Given the description of an element on the screen output the (x, y) to click on. 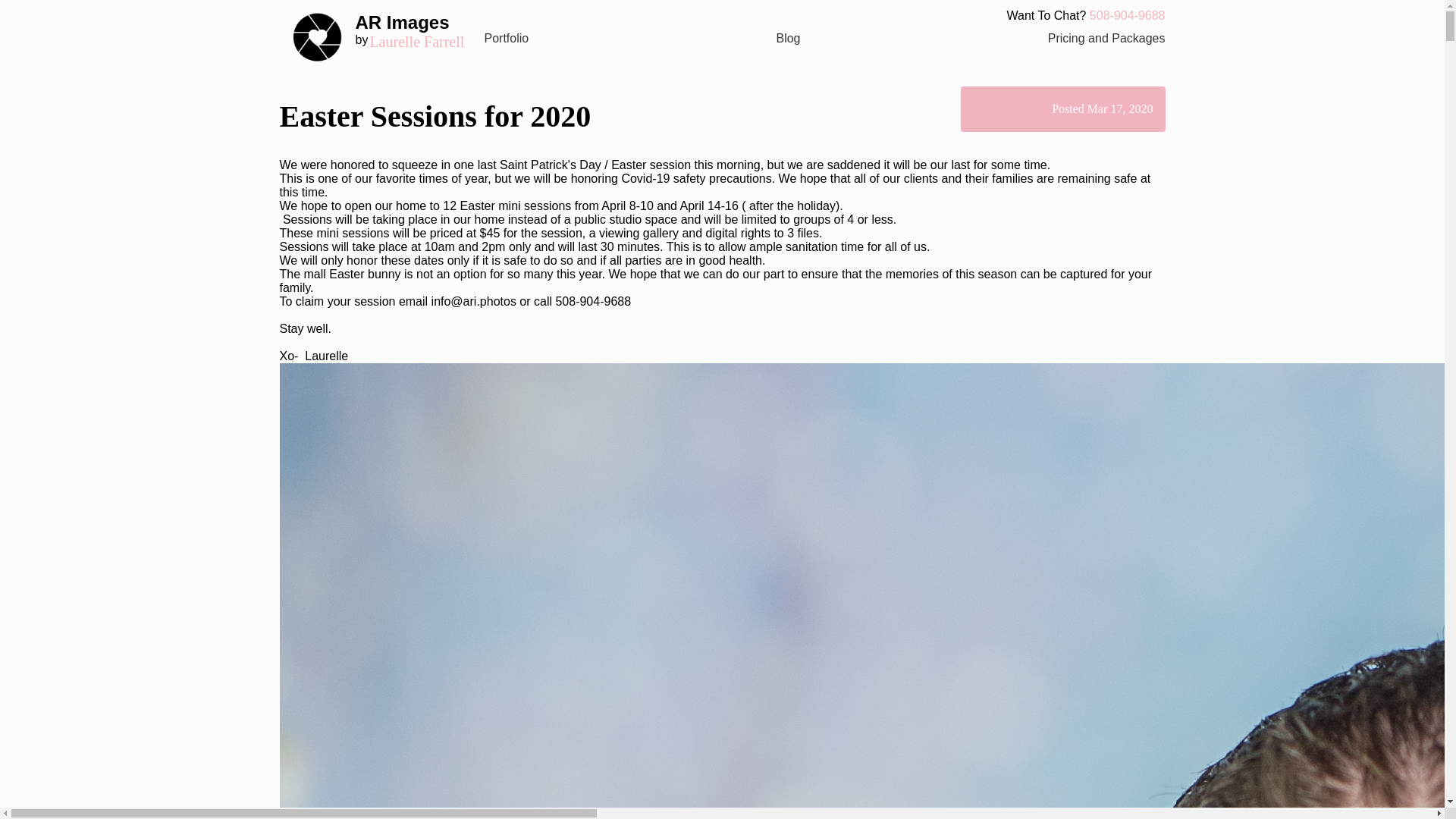
Pricing and Packages (1107, 38)
Portfolio (381, 37)
Blog (505, 38)
508-904-9688 (787, 38)
